Given the description of an element on the screen output the (x, y) to click on. 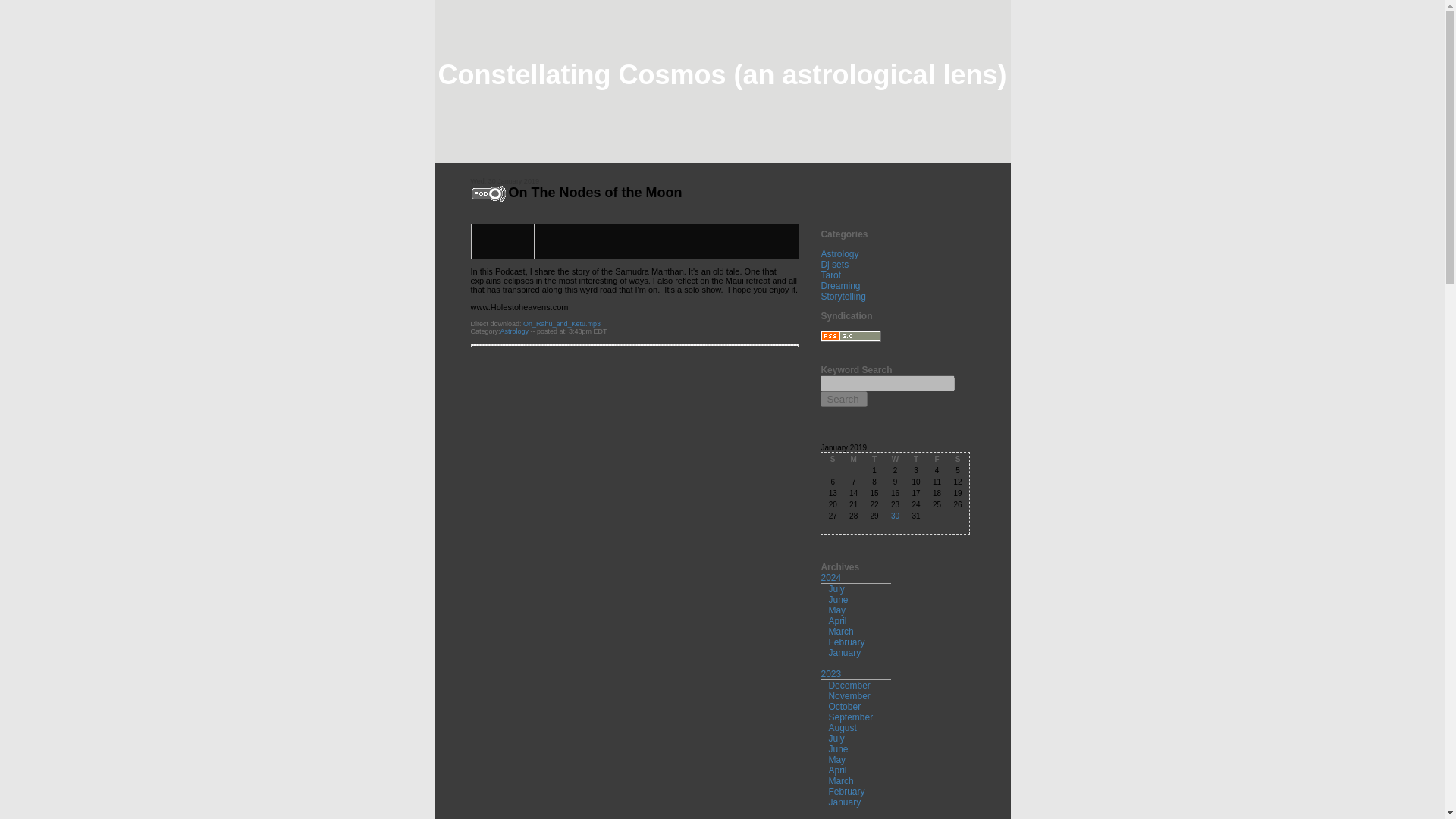
July (836, 588)
Dreaming (840, 285)
Search  (844, 399)
May (836, 759)
Astrology (514, 330)
2023 (831, 674)
October (844, 706)
On The Nodes of the Moon (594, 192)
Thursday (914, 459)
Search  (844, 399)
